Given the description of an element on the screen output the (x, y) to click on. 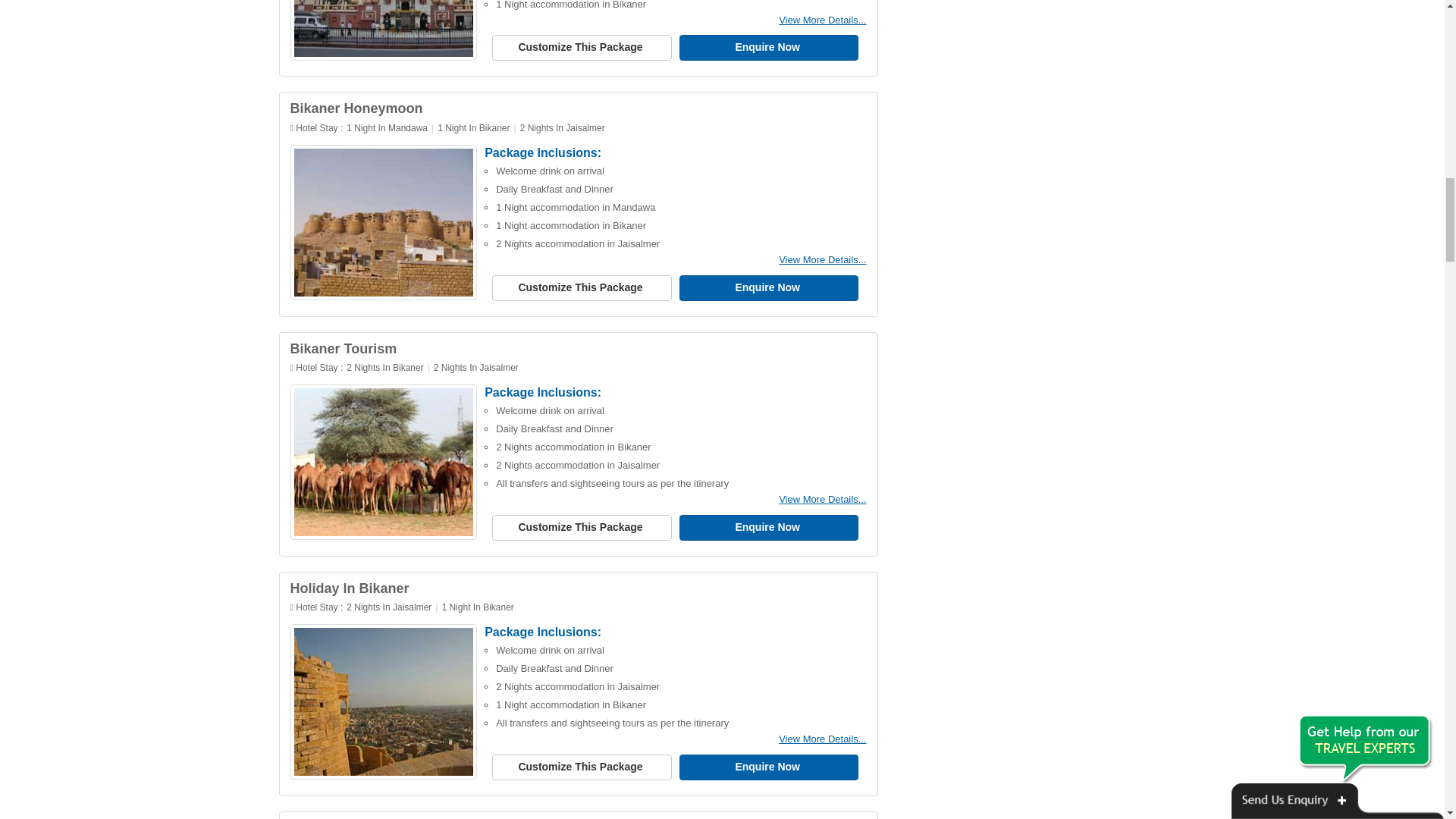
Customize This Package (581, 47)
View More Details... (822, 19)
